Given the description of an element on the screen output the (x, y) to click on. 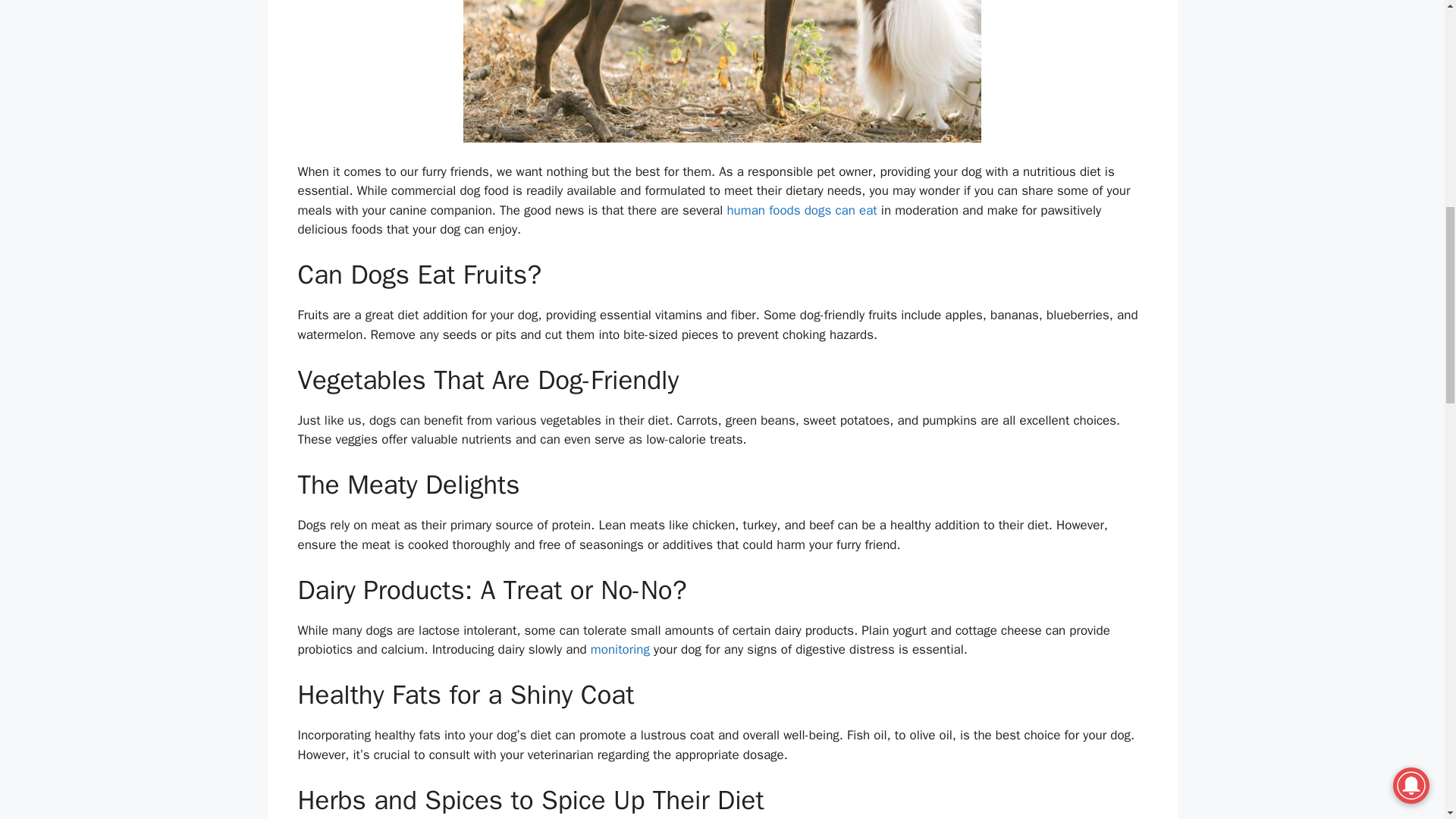
monitoring (620, 649)
human foods dogs can eat (801, 210)
Scroll back to top (1406, 720)
